Given the description of an element on the screen output the (x, y) to click on. 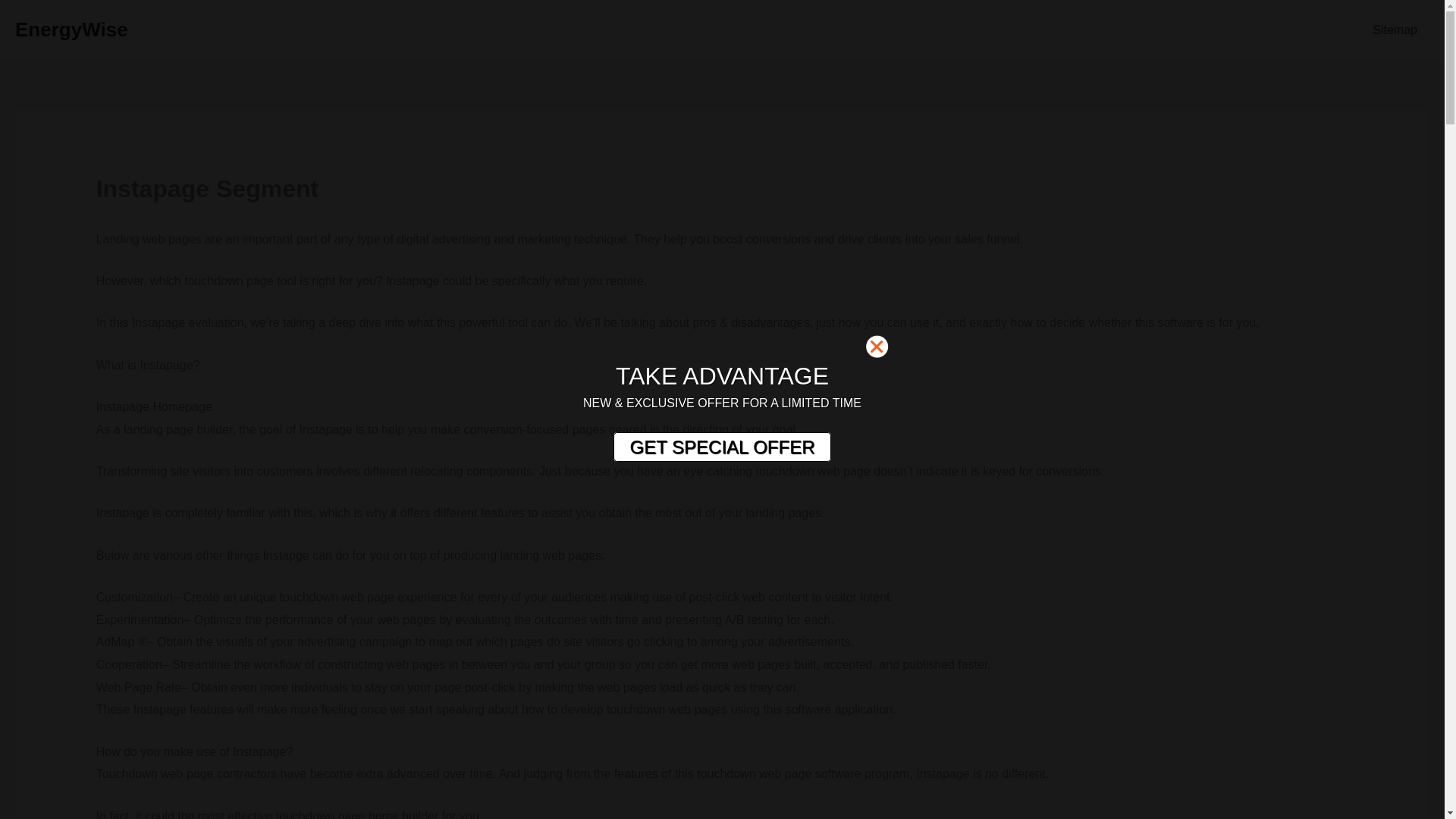
Sitemap (1394, 30)
GET SPECIAL OFFER (720, 446)
EnergyWise (71, 29)
